Given the description of an element on the screen output the (x, y) to click on. 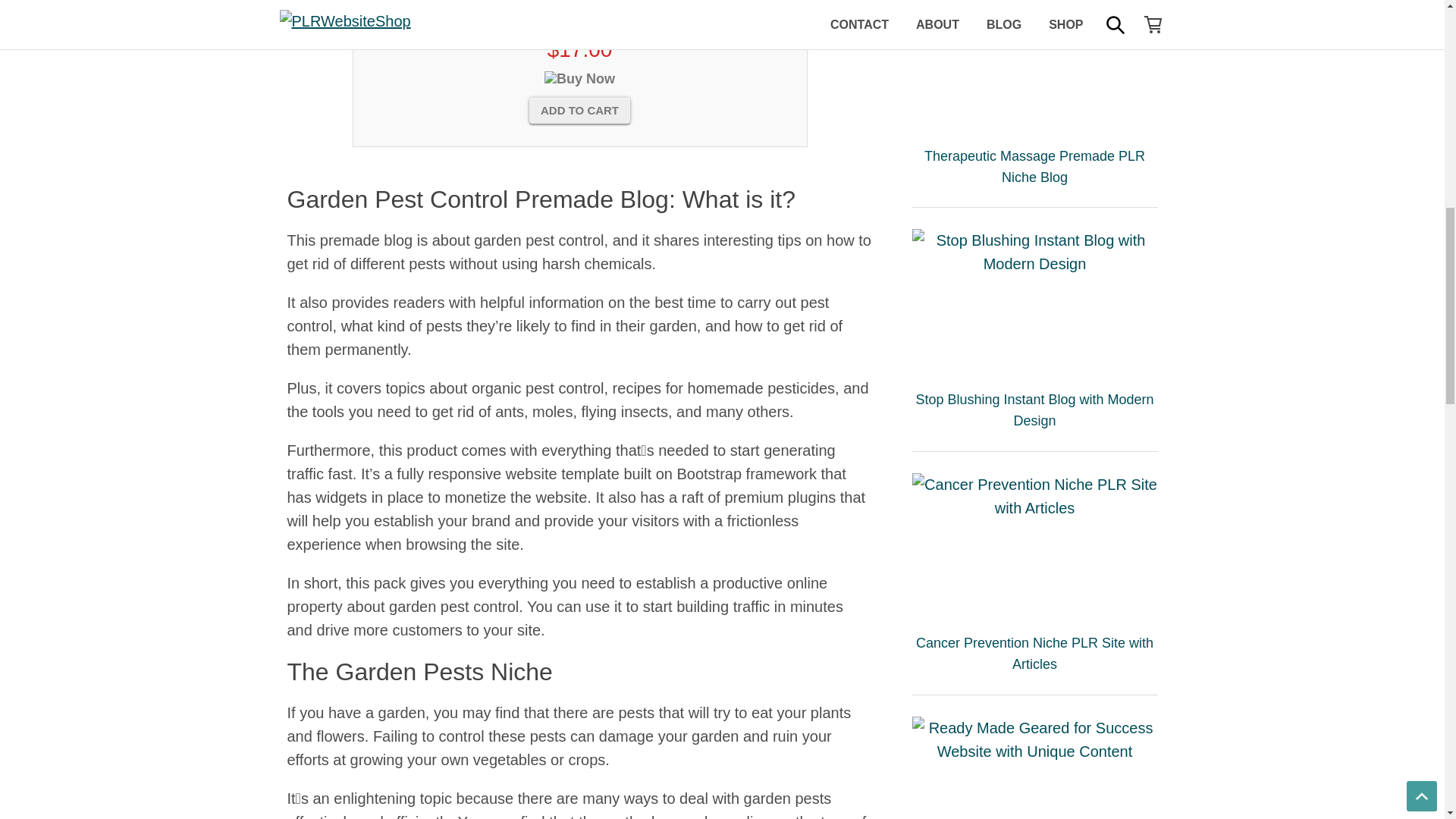
Add to Cart (579, 109)
Therapeutic Massage Premade PLR Niche Blog (1034, 66)
Stop Blushing Instant Blog with Modern Design (1034, 302)
Cancer Prevention Niche PLR Site with Articles (1034, 546)
Add to Cart (579, 109)
